Given the description of an element on the screen output the (x, y) to click on. 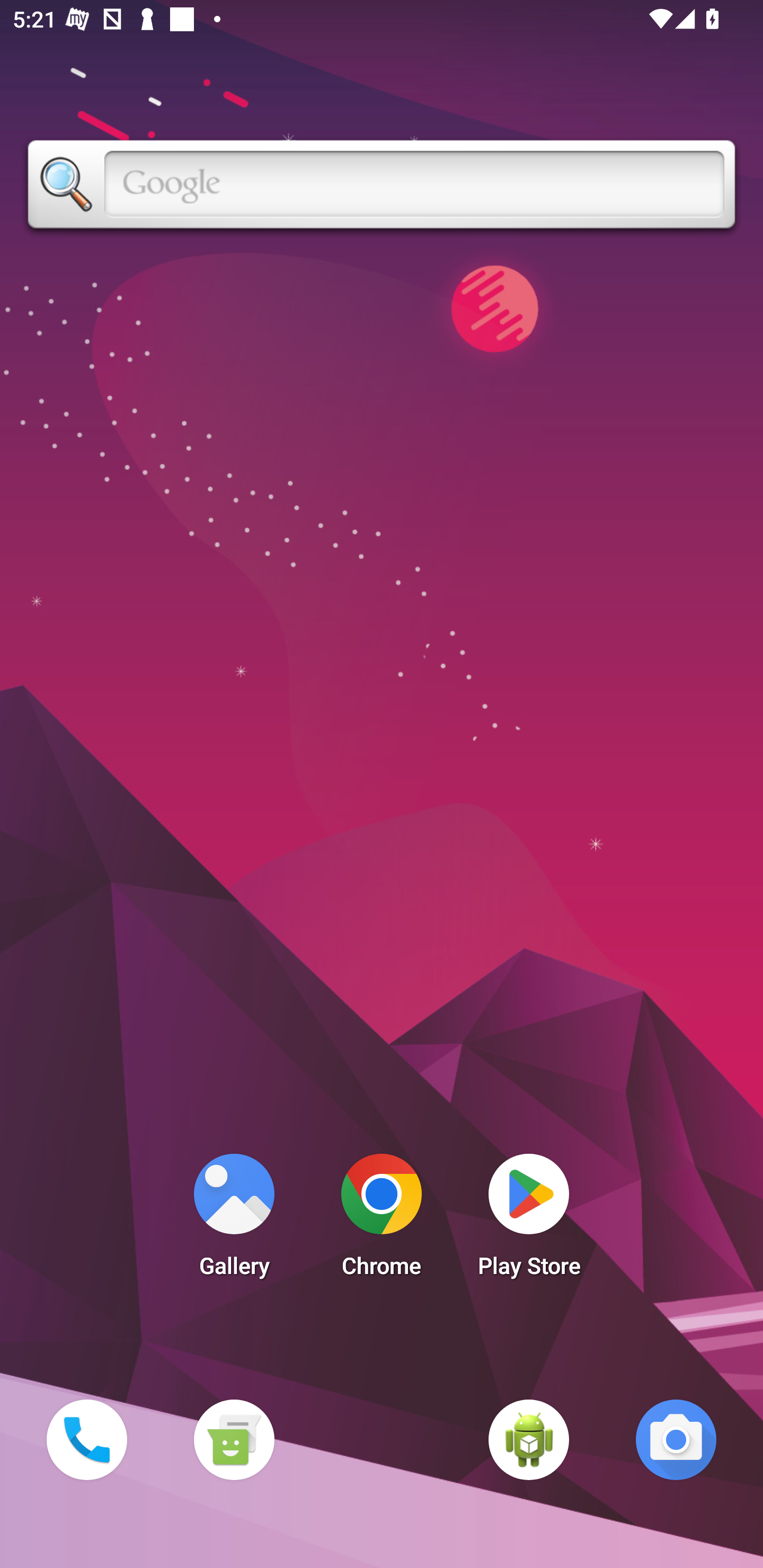
Gallery (233, 1220)
Chrome (381, 1220)
Play Store (528, 1220)
Phone (86, 1439)
Messaging (233, 1439)
WebView Browser Tester (528, 1439)
Camera (676, 1439)
